Given the description of an element on the screen output the (x, y) to click on. 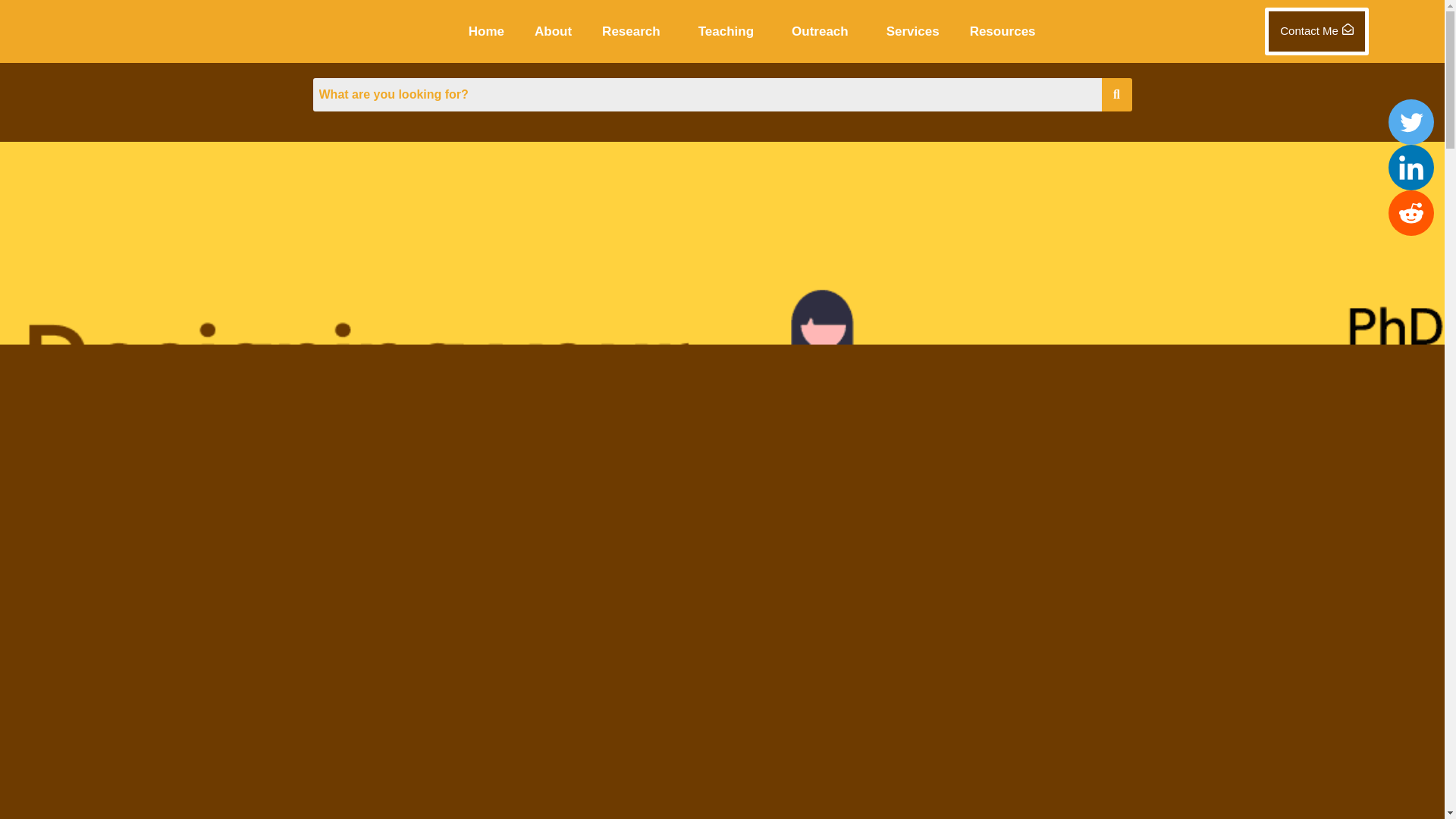
Services (912, 31)
Home (486, 31)
Contact Me (1316, 31)
Search (706, 93)
Linkedin (1411, 167)
Reddit (1411, 212)
Outreach (823, 31)
Research (635, 31)
Twitter (1411, 121)
About (552, 31)
Teaching (730, 31)
Resources (1006, 31)
